Given the description of an element on the screen output the (x, y) to click on. 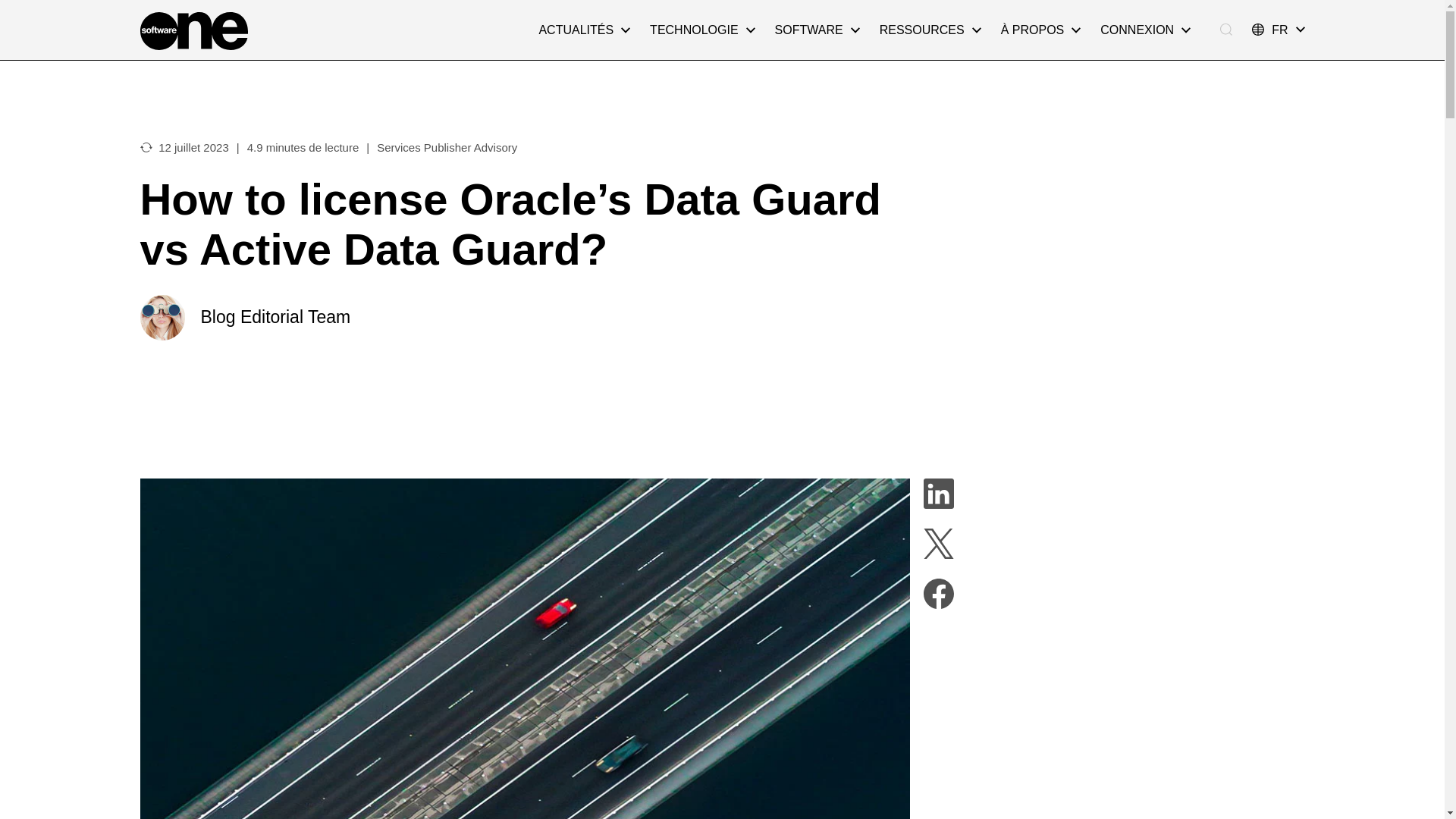
TECHNOLOGIE (702, 30)
CONNEXION (1144, 30)
SoftwareOne blog editorial team (161, 317)
SOFTWARE (817, 30)
RESSOURCES (930, 30)
